Given the description of an element on the screen output the (x, y) to click on. 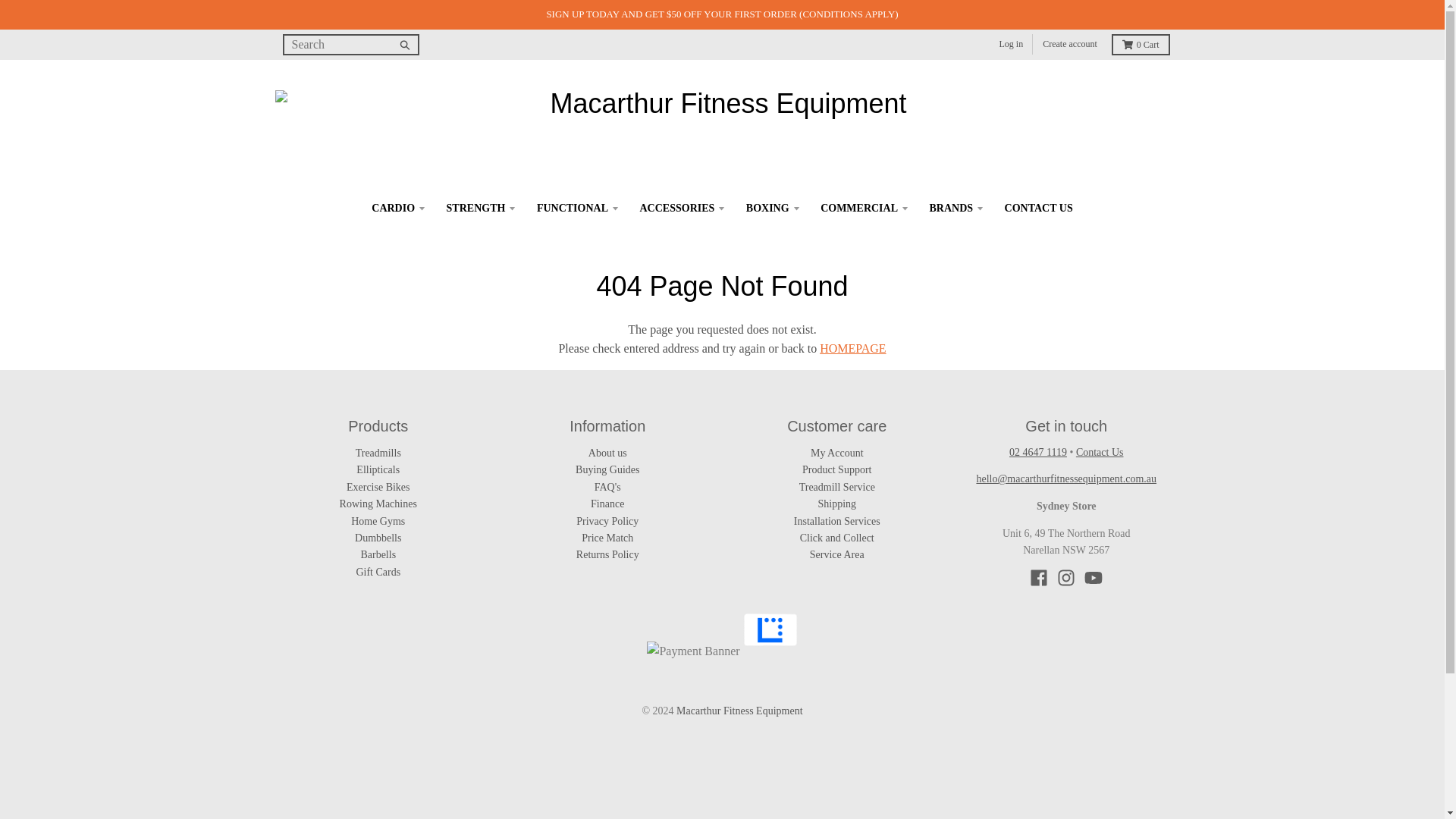
Instagram - Macarthur Fitness Equipment (1066, 577)
Create account (1070, 44)
YouTube - Macarthur Fitness Equipment (1093, 577)
0 Cart (1141, 44)
STRENGTH (480, 207)
CARDIO (397, 207)
Log in (1010, 44)
Facebook - Macarthur Fitness Equipment (1038, 577)
